Given the description of an element on the screen output the (x, y) to click on. 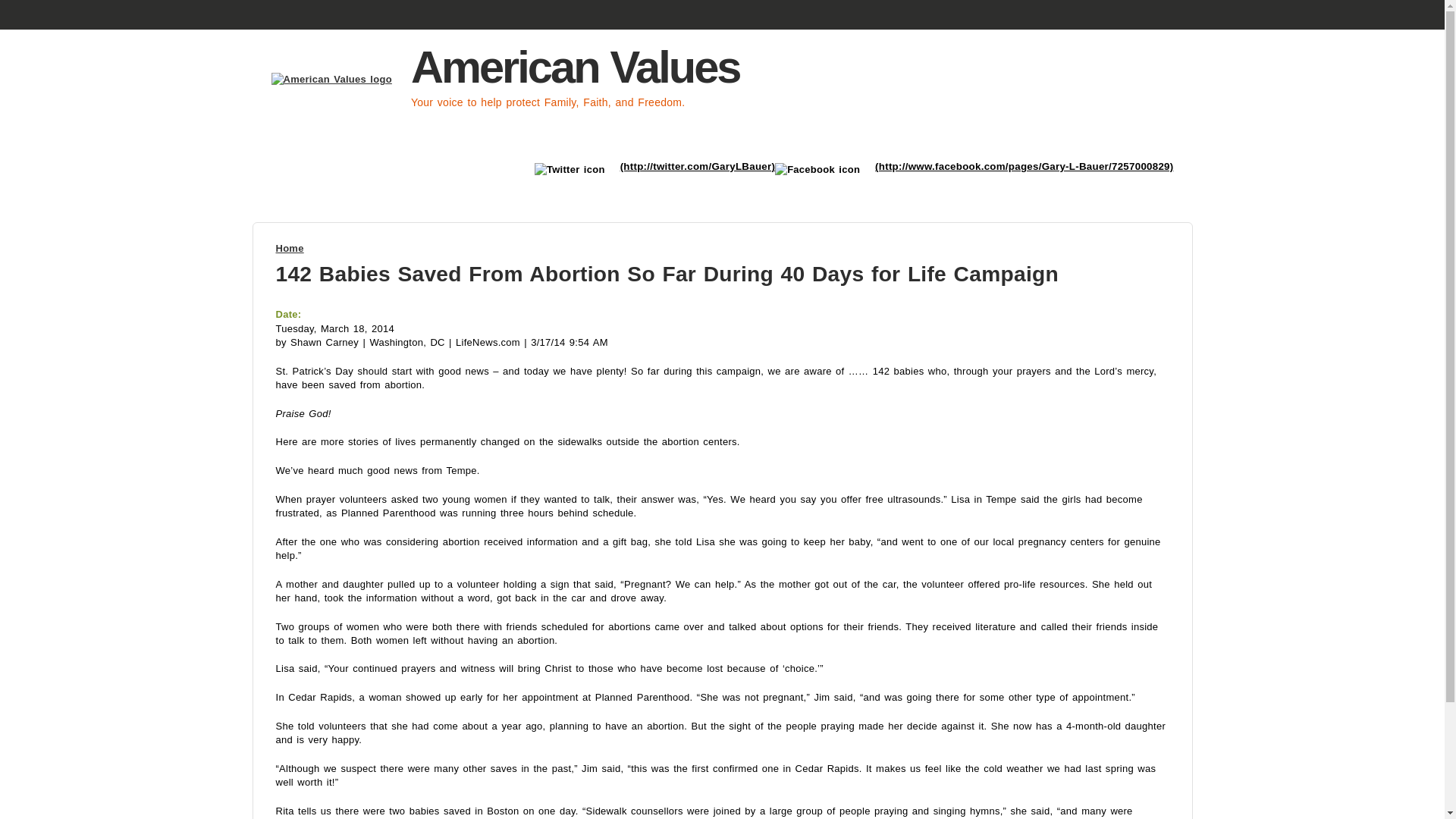
Home page (574, 66)
Home page (334, 79)
Visit GaryLBauer on Twitter (698, 165)
American Values (574, 66)
Home (290, 247)
